Given the description of an element on the screen output the (x, y) to click on. 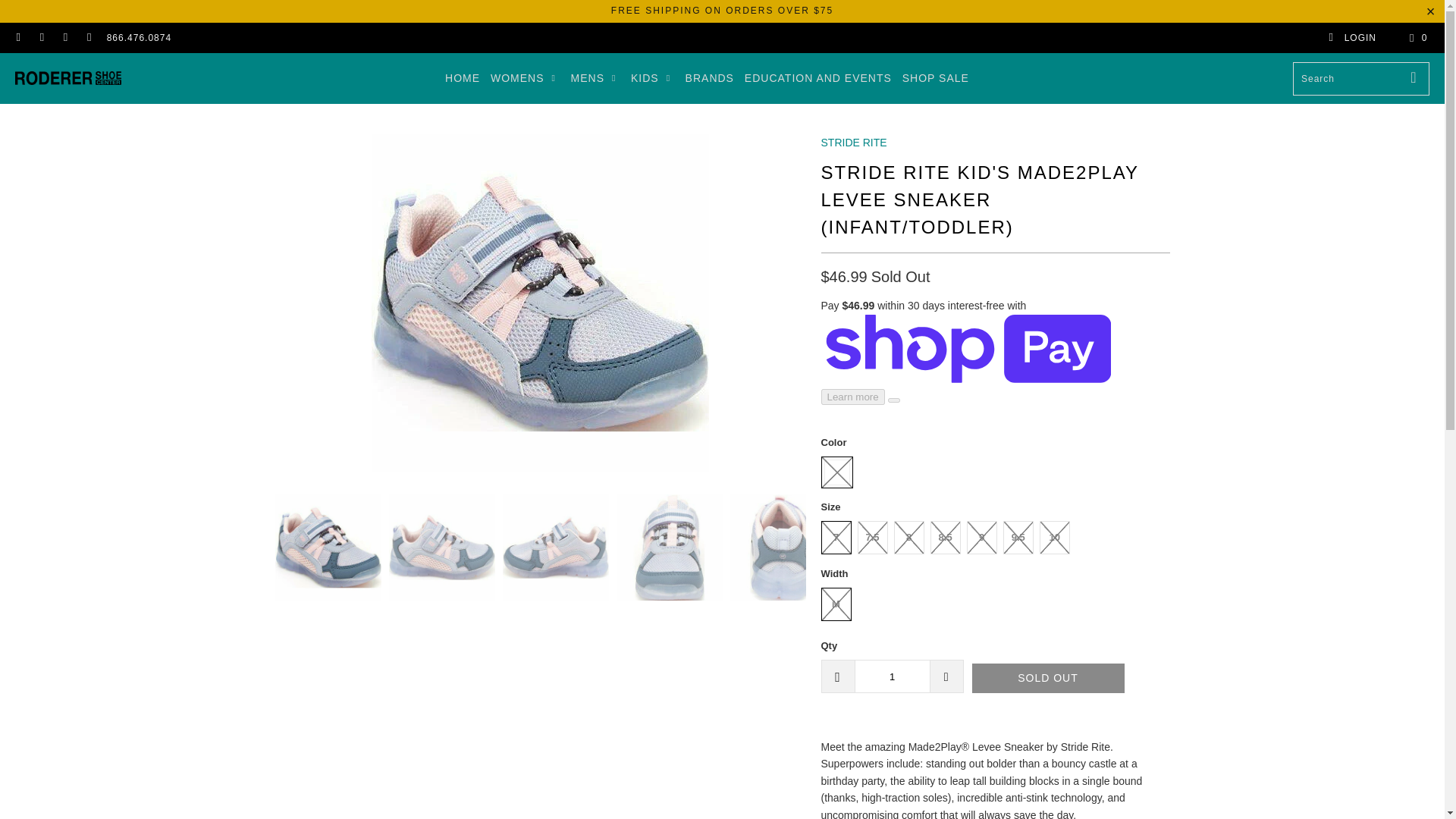
Email Roderer Shoe Center (87, 37)
Roderer Shoe Center on Instagram (41, 37)
1 (891, 676)
Roderer Shoe Center on LinkedIn (64, 37)
Roderer Shoe Center (67, 78)
Roderer Shoe Center on Facebook (17, 37)
STRIDE RITE (853, 142)
My Account  (1351, 37)
